Given the description of an element on the screen output the (x, y) to click on. 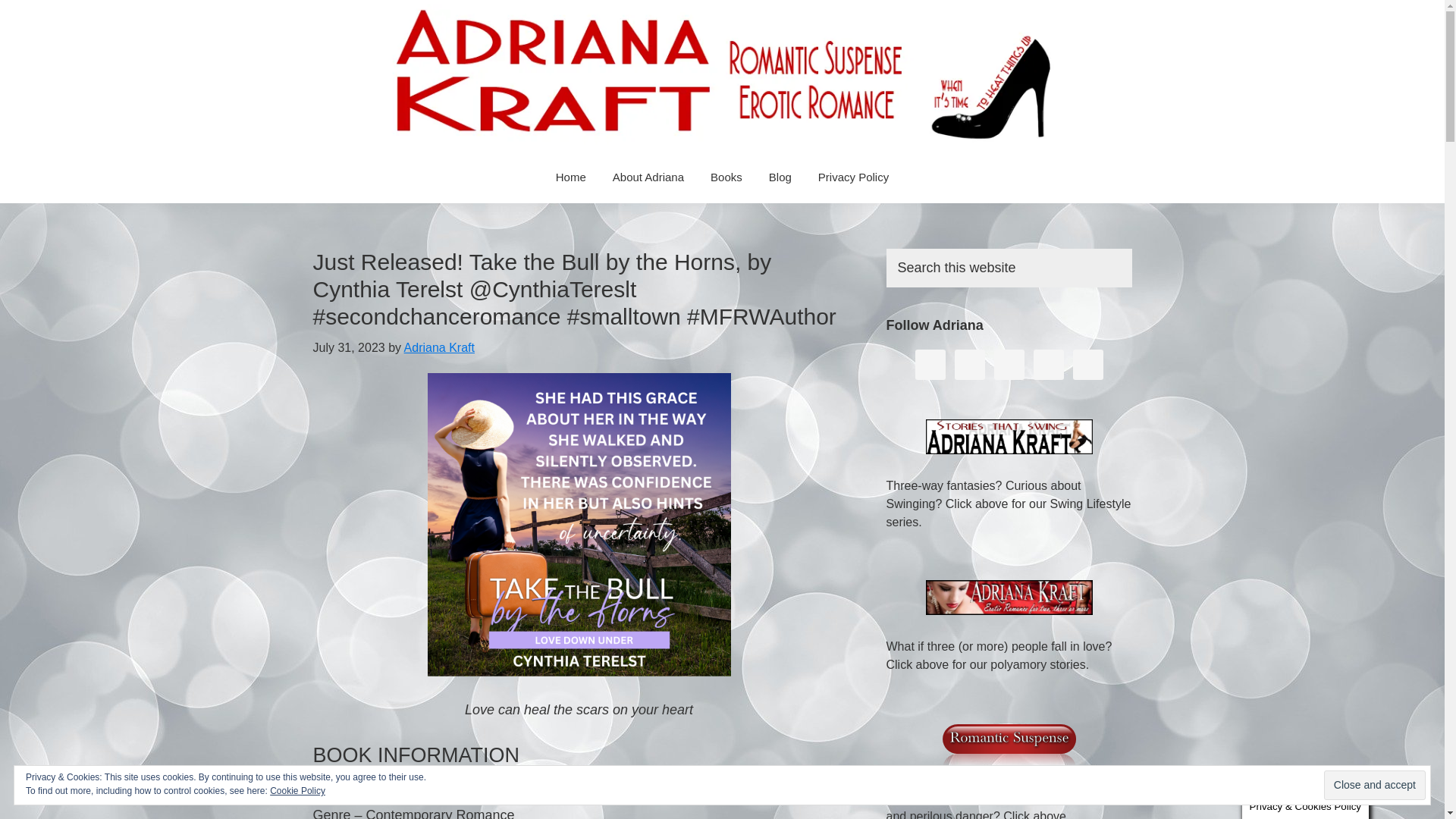
Home (570, 176)
Blog (780, 176)
About Adriana (648, 176)
Close and accept (1374, 785)
Privacy Policy (852, 176)
Adriana Kraft (439, 347)
Books (726, 176)
